Given the description of an element on the screen output the (x, y) to click on. 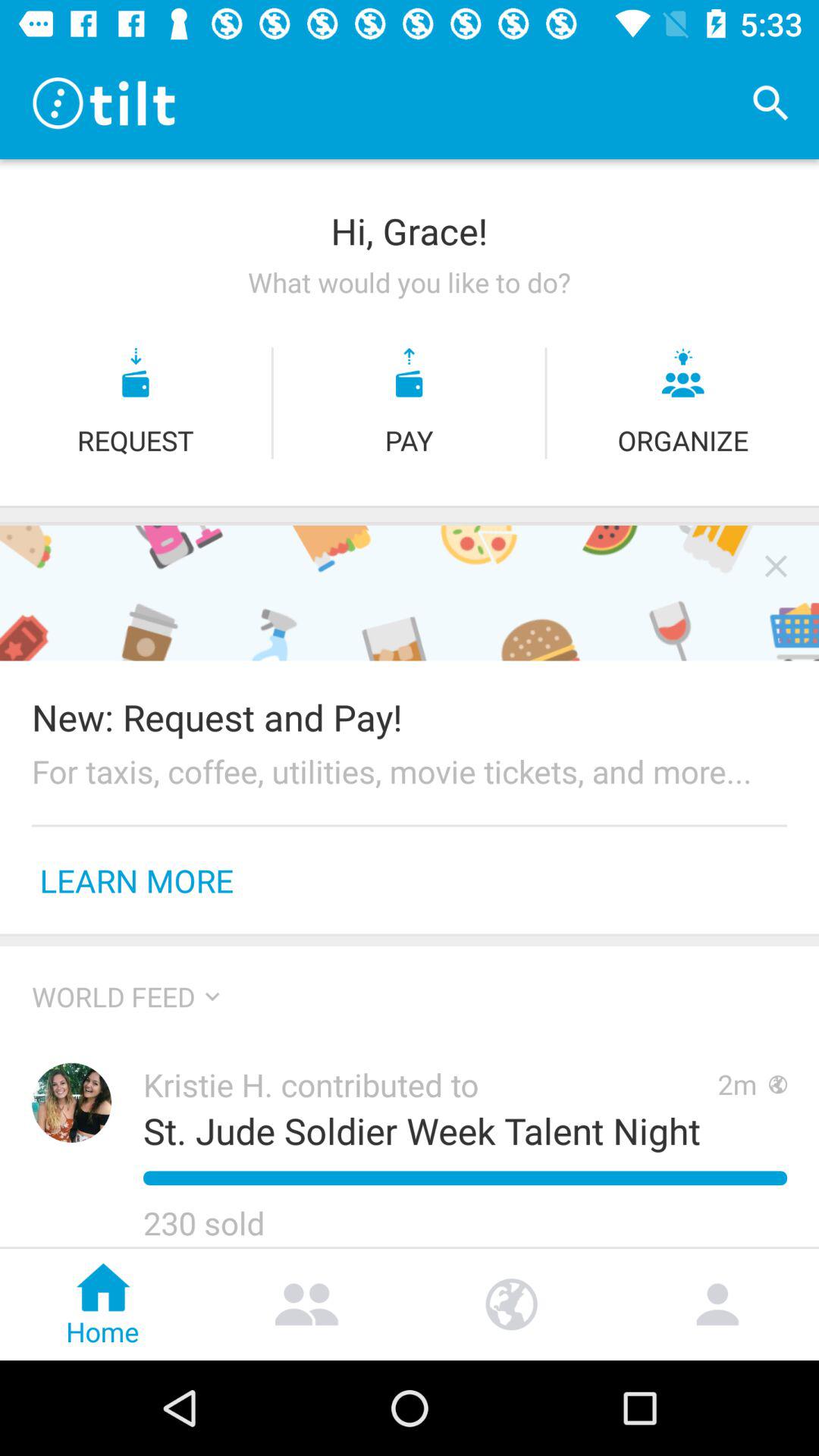
click item to the left of the 2m item (421, 1130)
